Given the description of an element on the screen output the (x, y) to click on. 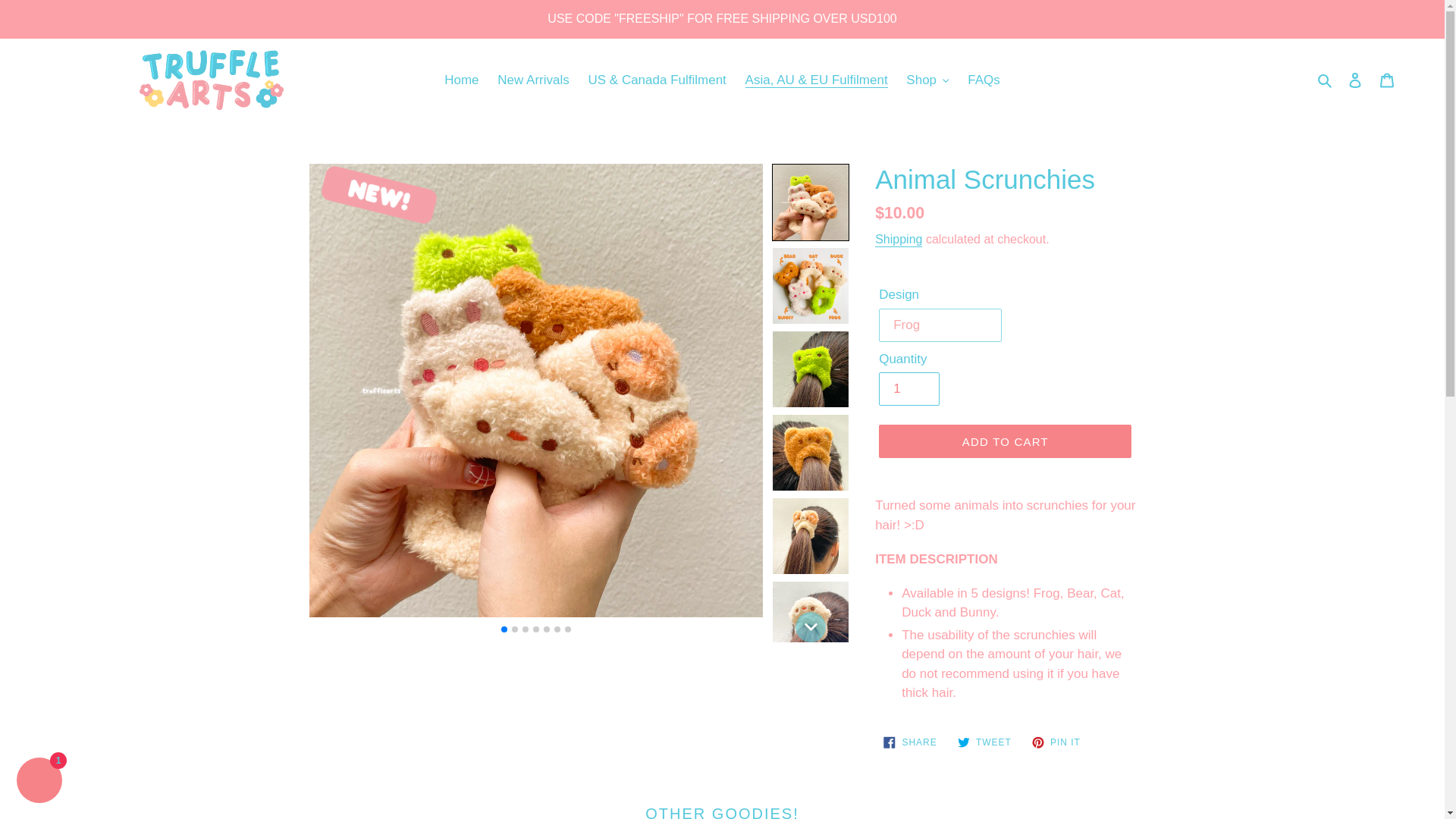
1 (909, 388)
Cart (1387, 80)
Home (461, 79)
FAQs (983, 79)
New Arrivals (532, 79)
Log in (1355, 80)
Shopify online store chat (38, 781)
Shop (927, 79)
Search (1326, 79)
